Given the description of an element on the screen output the (x, y) to click on. 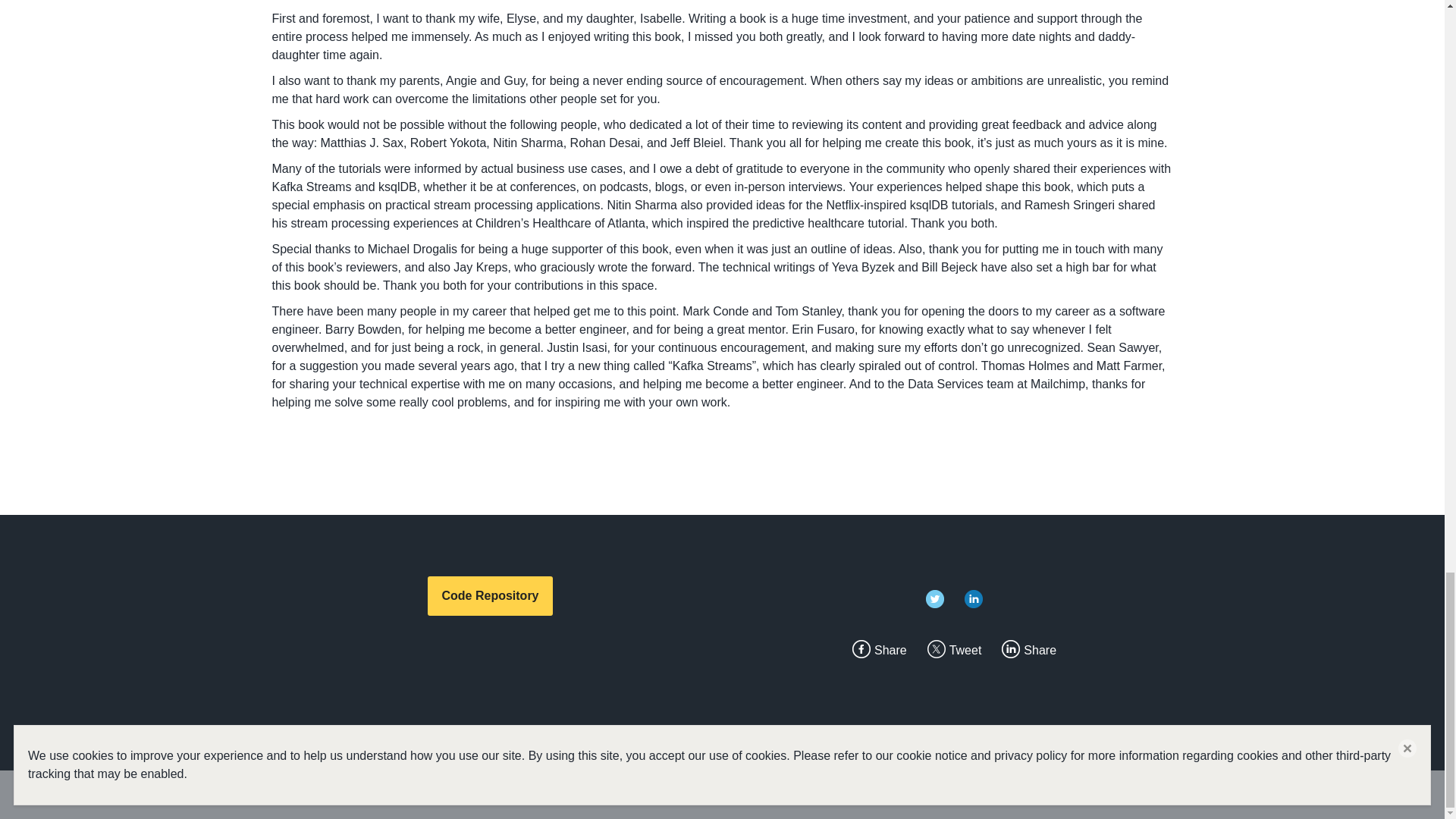
Share (891, 649)
Report Abuse (289, 794)
Share (1040, 649)
Tweet (965, 649)
Code Repository (489, 595)
Code Repository (489, 595)
